Given the description of an element on the screen output the (x, y) to click on. 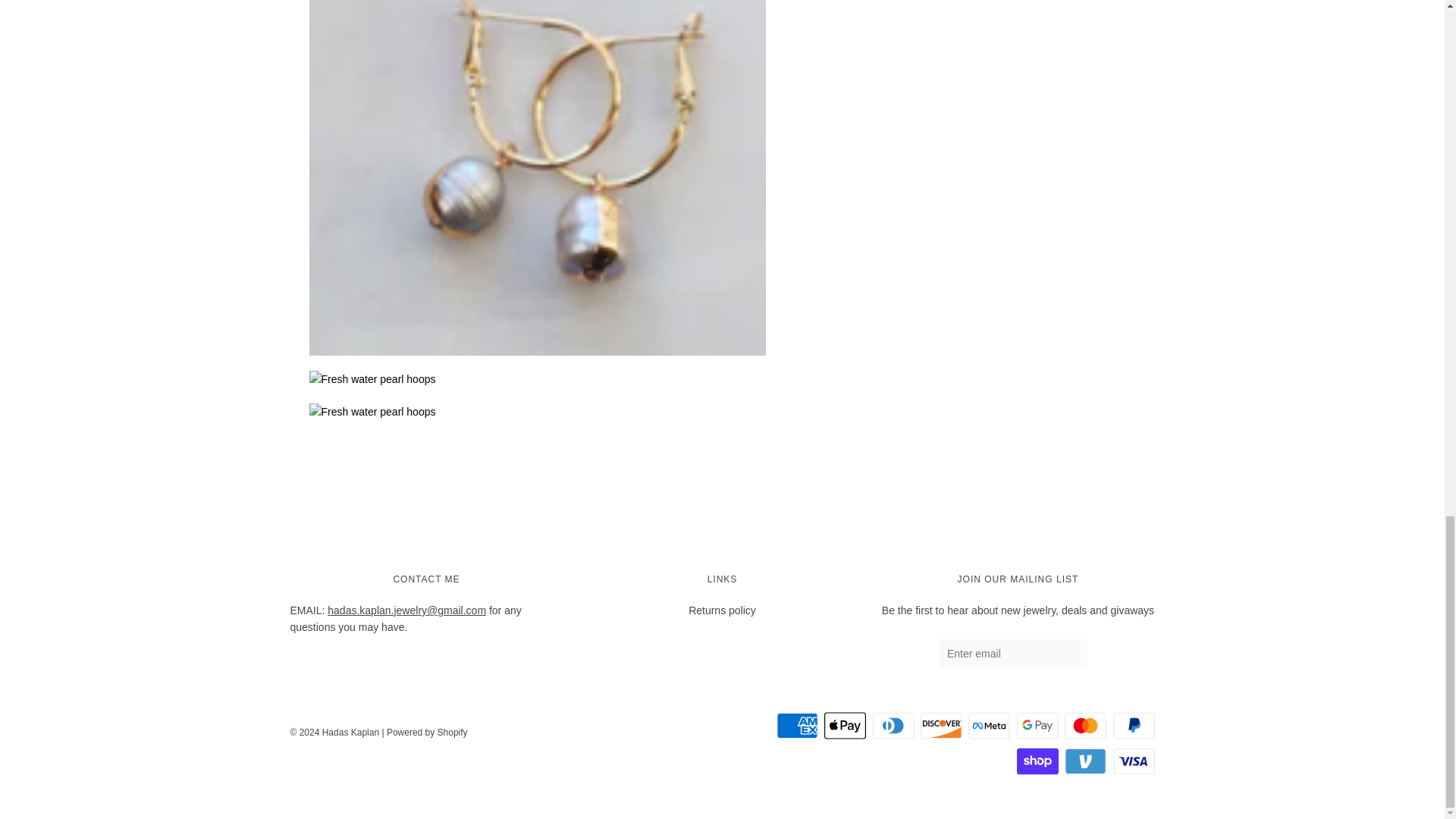
Shop Pay (1037, 761)
Meta Pay (989, 725)
PayPal (1133, 725)
Visa (1133, 761)
Apple Pay (845, 725)
Diners Club (893, 725)
Discover (941, 725)
Mastercard (1085, 725)
Google Pay (1037, 725)
Venmo (1085, 761)
Fresh water pearl hoops (536, 379)
Fresh water pearl hoops (536, 411)
American Express (797, 725)
